Given the description of an element on the screen output the (x, y) to click on. 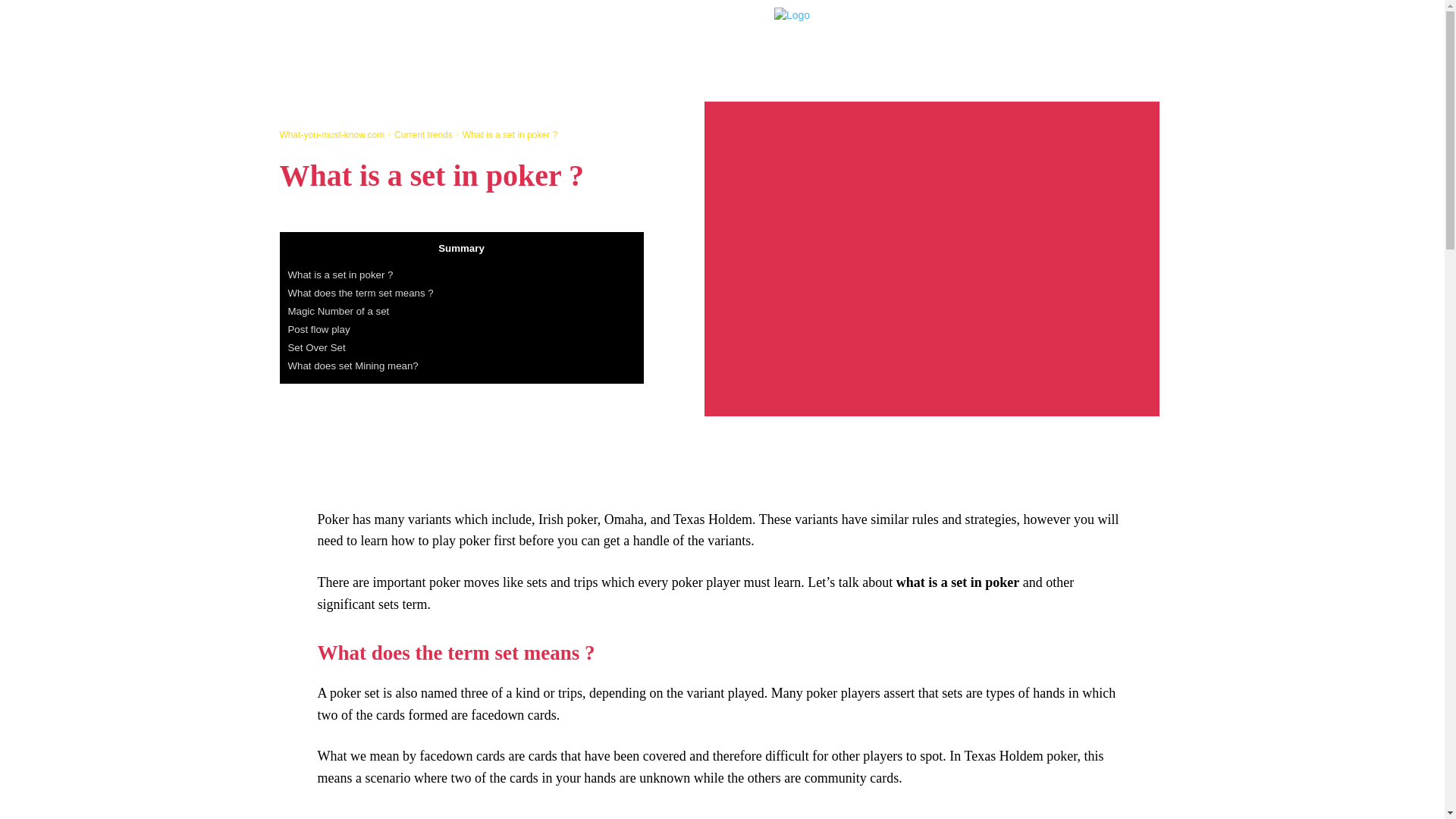
What does set Mining mean? (353, 365)
Post flow play (319, 328)
620a8eab7e281.jpeg (931, 258)
Set Over Set (317, 347)
At Home (933, 23)
Network (991, 23)
Current Trends (1064, 23)
View all posts in Current trends (423, 134)
What does the term set means ? (360, 292)
Magic Number of a set (339, 310)
Lifestyle Side (945, 47)
Current trends (423, 134)
What is a set in poker ? (340, 274)
What-you-must-know.com (331, 134)
